Given the description of an element on the screen output the (x, y) to click on. 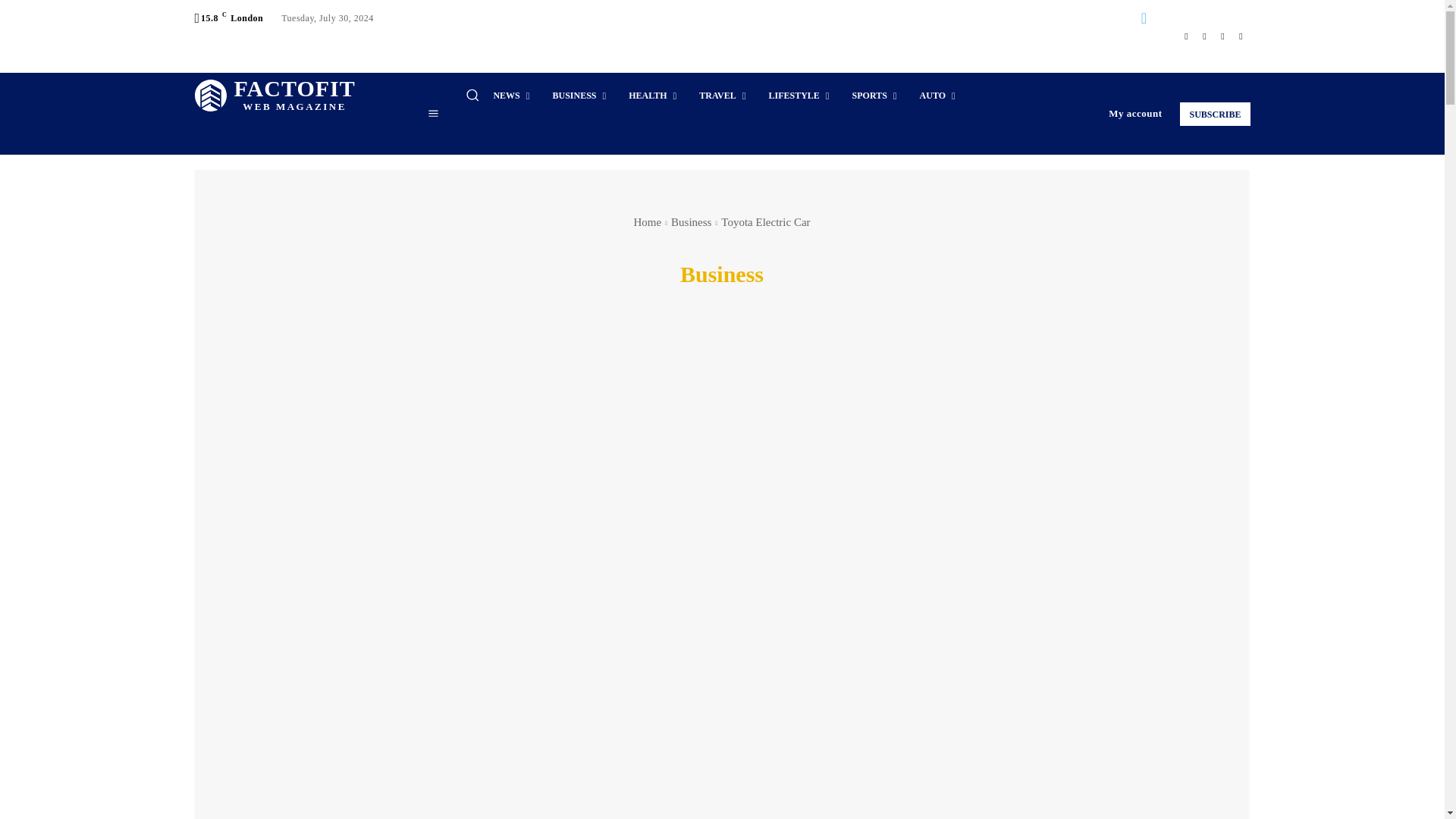
Facebook (1185, 36)
Youtube (1240, 36)
Instagram (274, 95)
Twitter (1203, 36)
